Given the description of an element on the screen output the (x, y) to click on. 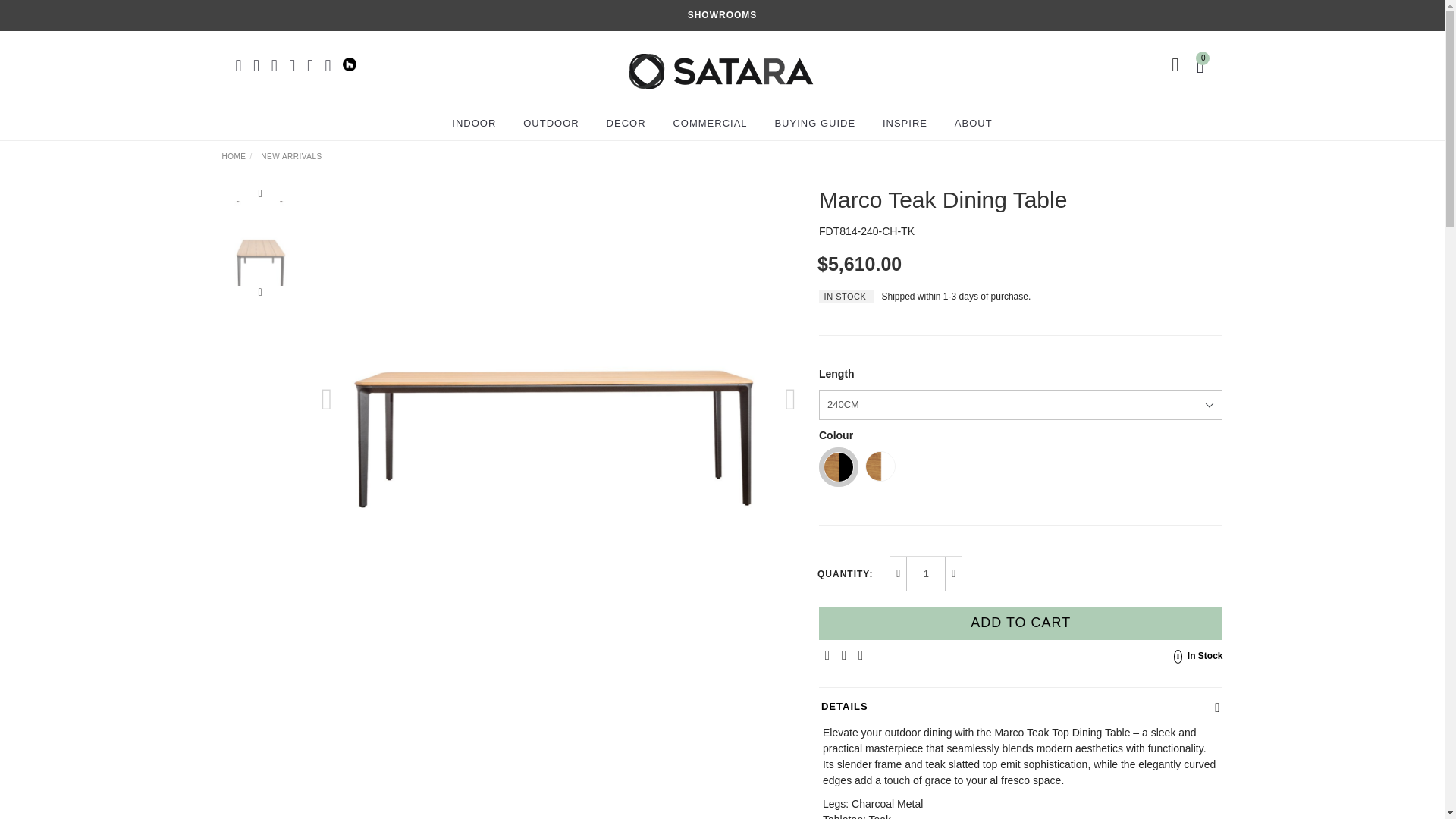
Large View (260, 263)
Large View (260, 179)
0 (1202, 64)
SHOWROOMS (722, 14)
1 (926, 572)
INDOOR (473, 123)
Satara Australia Pty Ltd (720, 64)
